Given the description of an element on the screen output the (x, y) to click on. 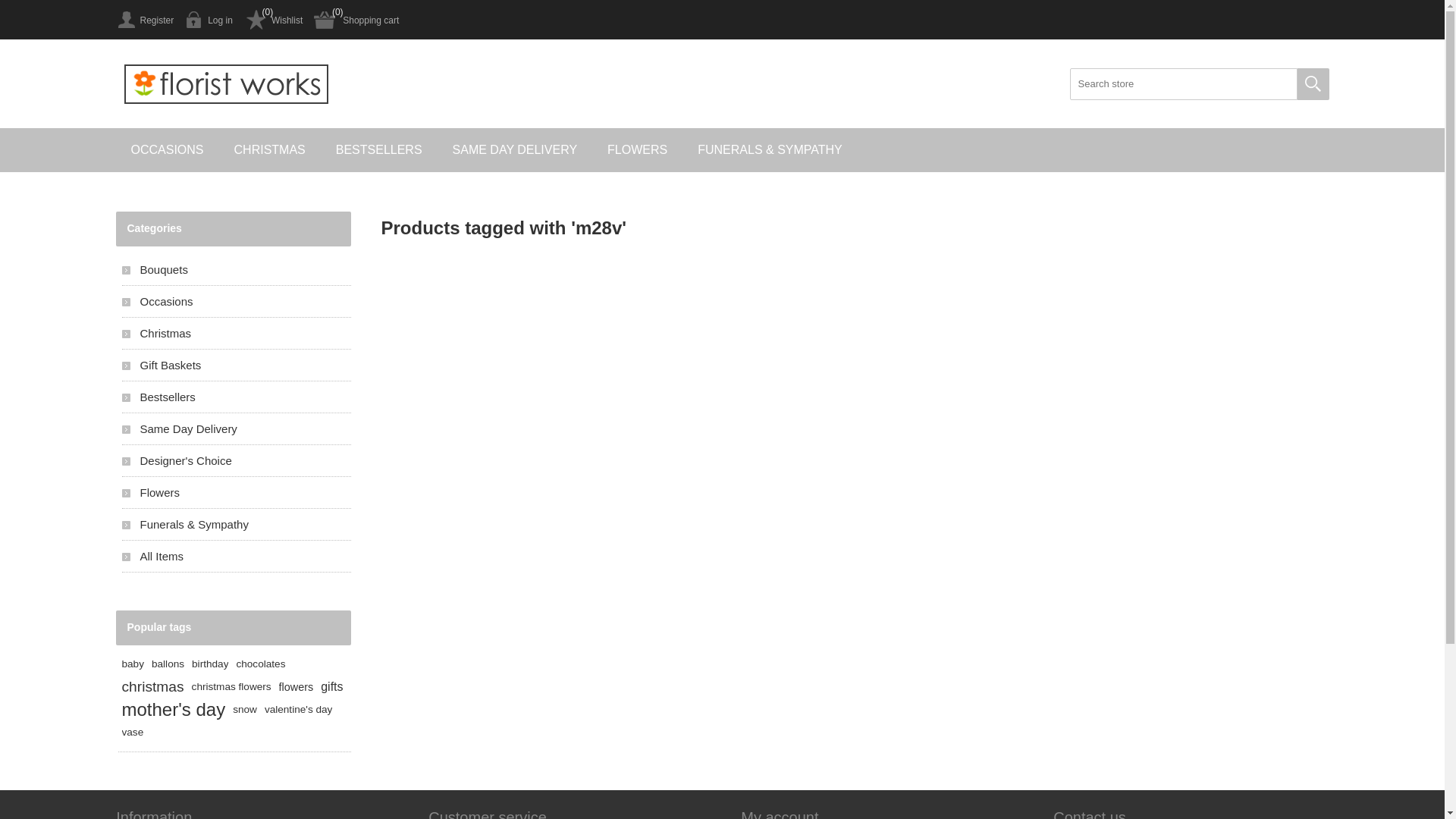
BESTSELLERS Element type: text (378, 150)
Funerals & Sympathy Element type: text (235, 523)
snow Element type: text (244, 709)
Occasions Element type: text (235, 300)
Flowers Element type: text (235, 492)
CHRISTMAS Element type: text (269, 150)
Shopping cart Element type: text (355, 19)
ballons Element type: text (167, 663)
chocolates Element type: text (260, 663)
birthday Element type: text (209, 663)
Search Element type: text (1312, 84)
valentine's day Element type: text (298, 709)
Log in Element type: text (208, 19)
Christmas Element type: text (235, 332)
gifts Element type: text (331, 686)
christmas Element type: text (152, 686)
All Items Element type: text (235, 555)
flowers Element type: text (296, 686)
mother's day Element type: text (173, 709)
Bestsellers Element type: text (235, 396)
Bouquets Element type: text (235, 269)
SAME DAY DELIVERY Element type: text (515, 150)
Register Element type: text (144, 19)
FLOWERS Element type: text (637, 150)
vase Element type: text (132, 732)
baby Element type: text (132, 663)
Gift Baskets Element type: text (235, 364)
Designer's Choice Element type: text (235, 460)
Wishlist Element type: text (273, 19)
OCCASIONS Element type: text (166, 150)
Same Day Delivery Element type: text (235, 428)
christmas flowers Element type: text (231, 686)
FUNERALS & SYMPATHY Element type: text (769, 150)
